Given the description of an element on the screen output the (x, y) to click on. 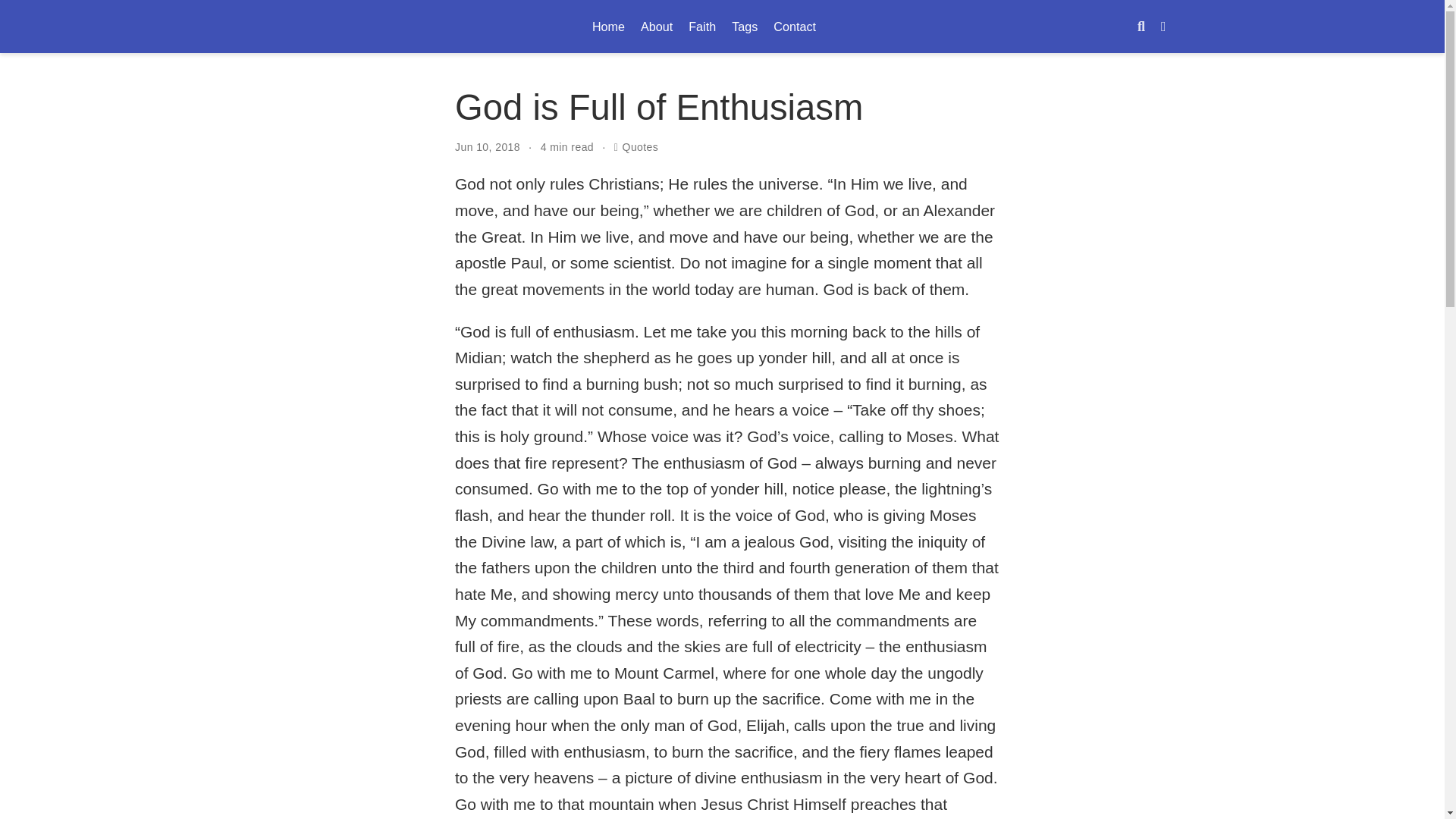
Faith (722, 26)
About (702, 25)
Contact (657, 25)
Tags (794, 25)
Quotes (744, 25)
Home (641, 146)
